Given the description of an element on the screen output the (x, y) to click on. 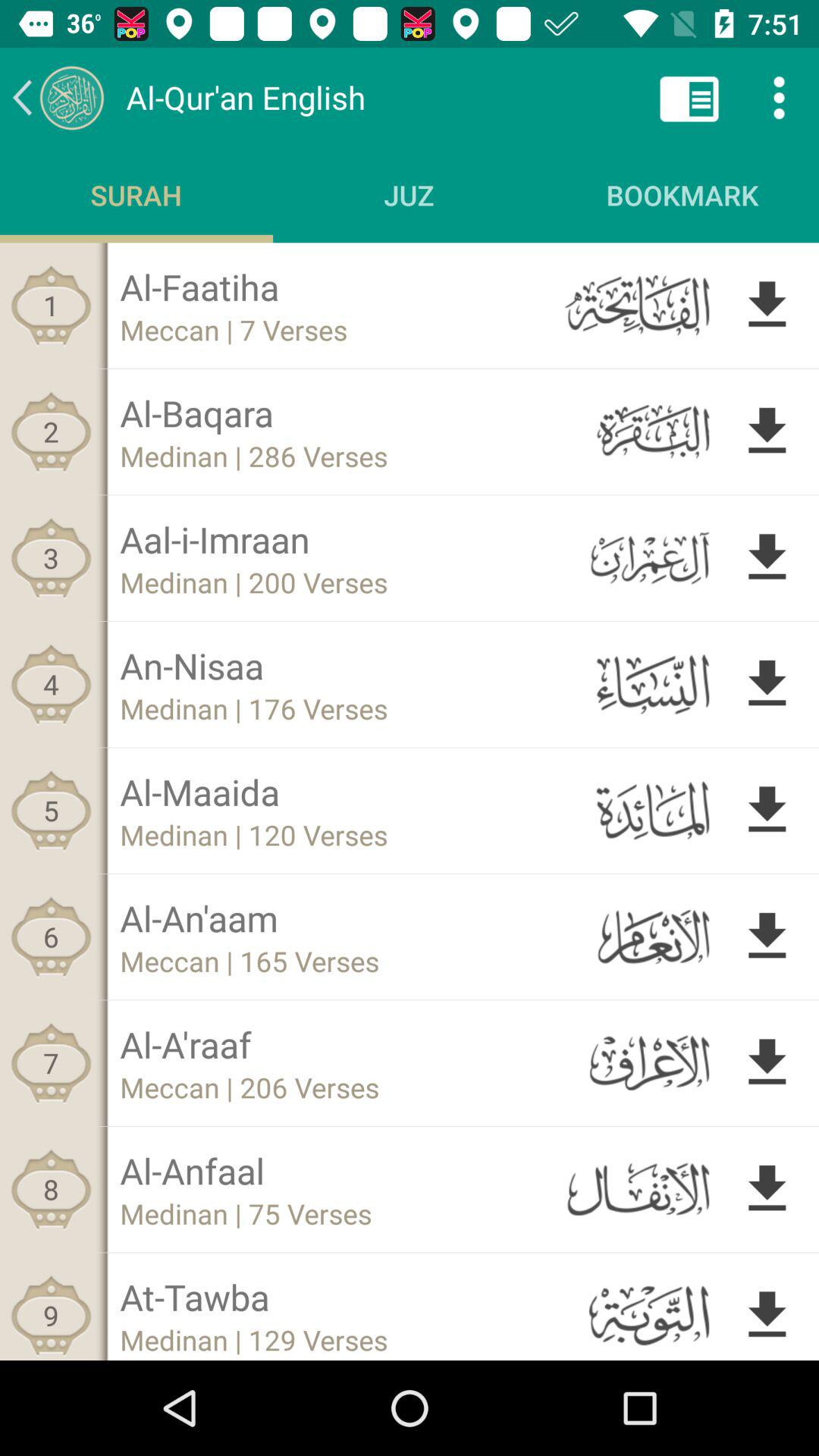
dowloting (767, 1189)
